Given the description of an element on the screen output the (x, y) to click on. 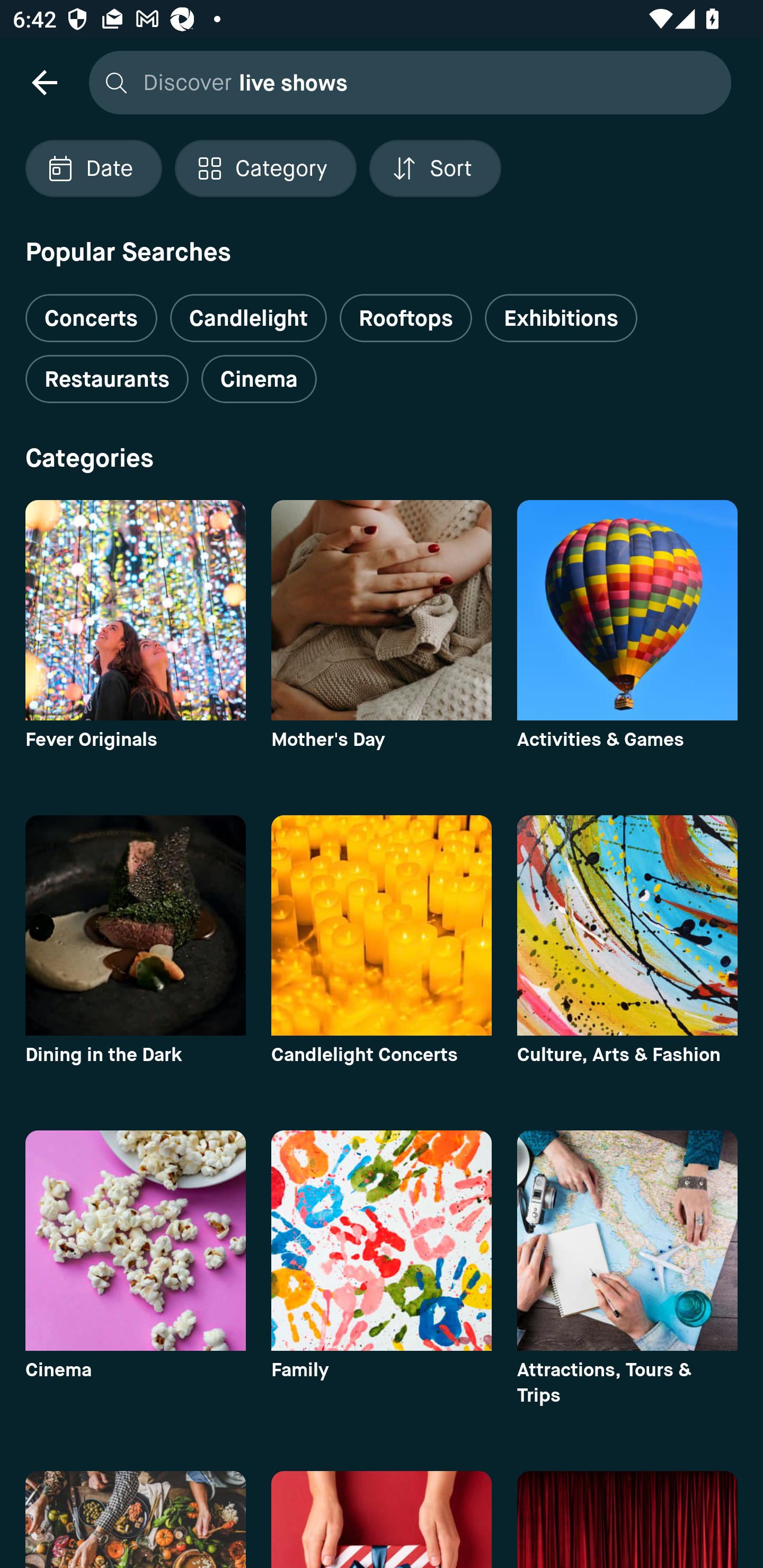
navigation icon (44, 81)
Discover live shows (405, 81)
Localized description Date (93, 168)
Localized description Category (265, 168)
Localized description Sort (435, 168)
Concerts (91, 310)
Candlelight (248, 317)
Rooftops (405, 317)
Exhibitions (560, 317)
Restaurants (106, 379)
Cinema (258, 379)
category image (135, 609)
category image (381, 609)
category image (627, 609)
category image (135, 924)
category image (381, 924)
category image (627, 924)
category image (135, 1240)
category image (381, 1240)
category image (627, 1240)
